Given the description of an element on the screen output the (x, y) to click on. 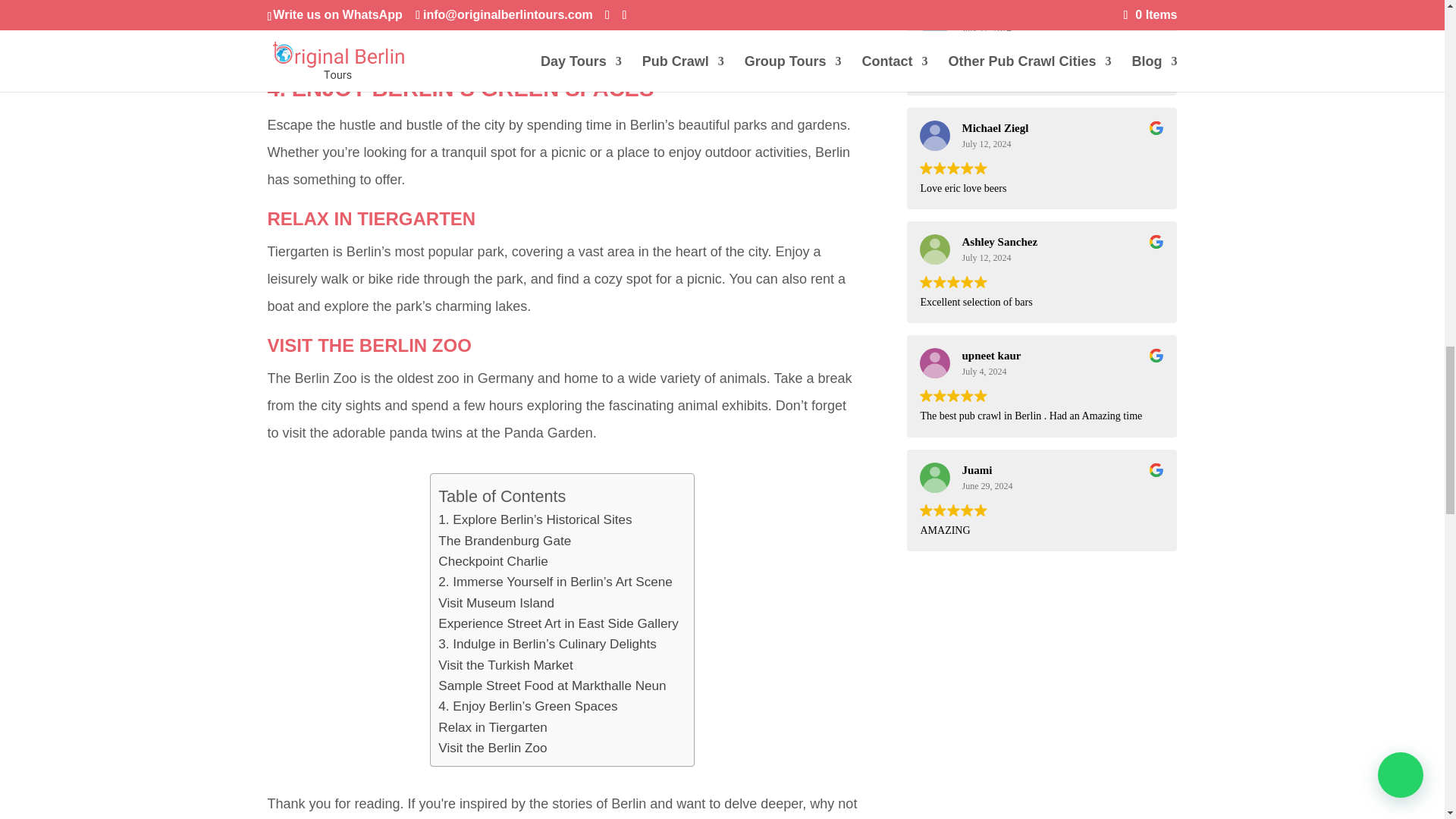
Relax in Tiergarten (492, 727)
The Brandenburg Gate (504, 540)
Visit the Turkish Market (505, 665)
Checkpoint Charlie (492, 561)
Visit Museum Island (496, 602)
Sample Street Food at Markthalle Neun (551, 685)
Experience Street Art in East Side Gallery (558, 623)
Visit the Berlin Zoo (492, 747)
